Given the description of an element on the screen output the (x, y) to click on. 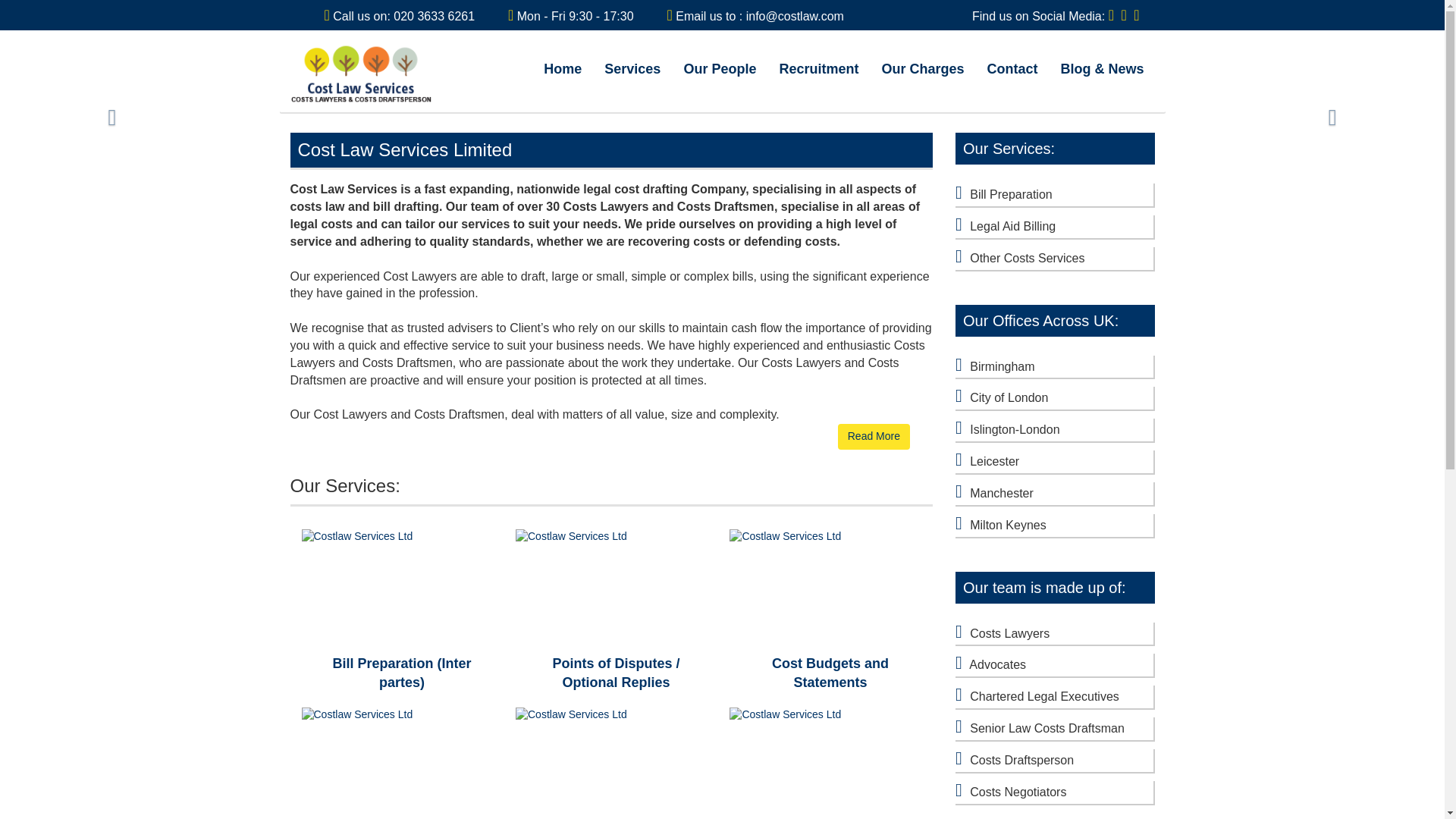
Our Charges (922, 75)
Cost Budgets and Statements (829, 673)
Contact (1011, 75)
Read More (874, 436)
Recruitment (818, 75)
Home (562, 75)
Services (631, 75)
Our People (719, 75)
Call us on: 020 3633 6261 (403, 15)
